Given the description of an element on the screen output the (x, y) to click on. 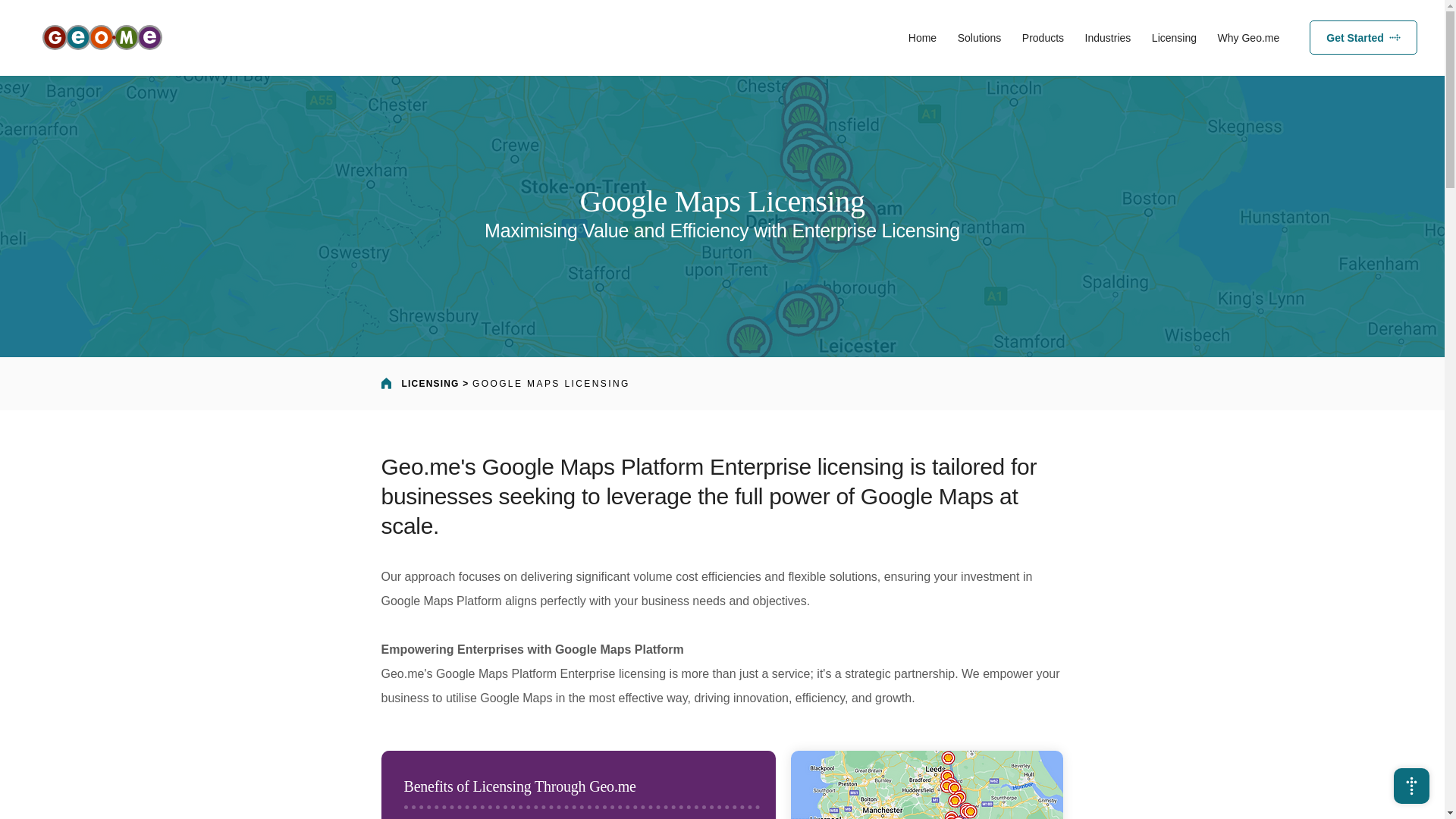
Products (1042, 38)
Home (922, 38)
Licensing (1174, 38)
Solutions (979, 38)
Why Geo.me (1094, 38)
Get Started (1248, 38)
Industries (1362, 37)
